Given the description of an element on the screen output the (x, y) to click on. 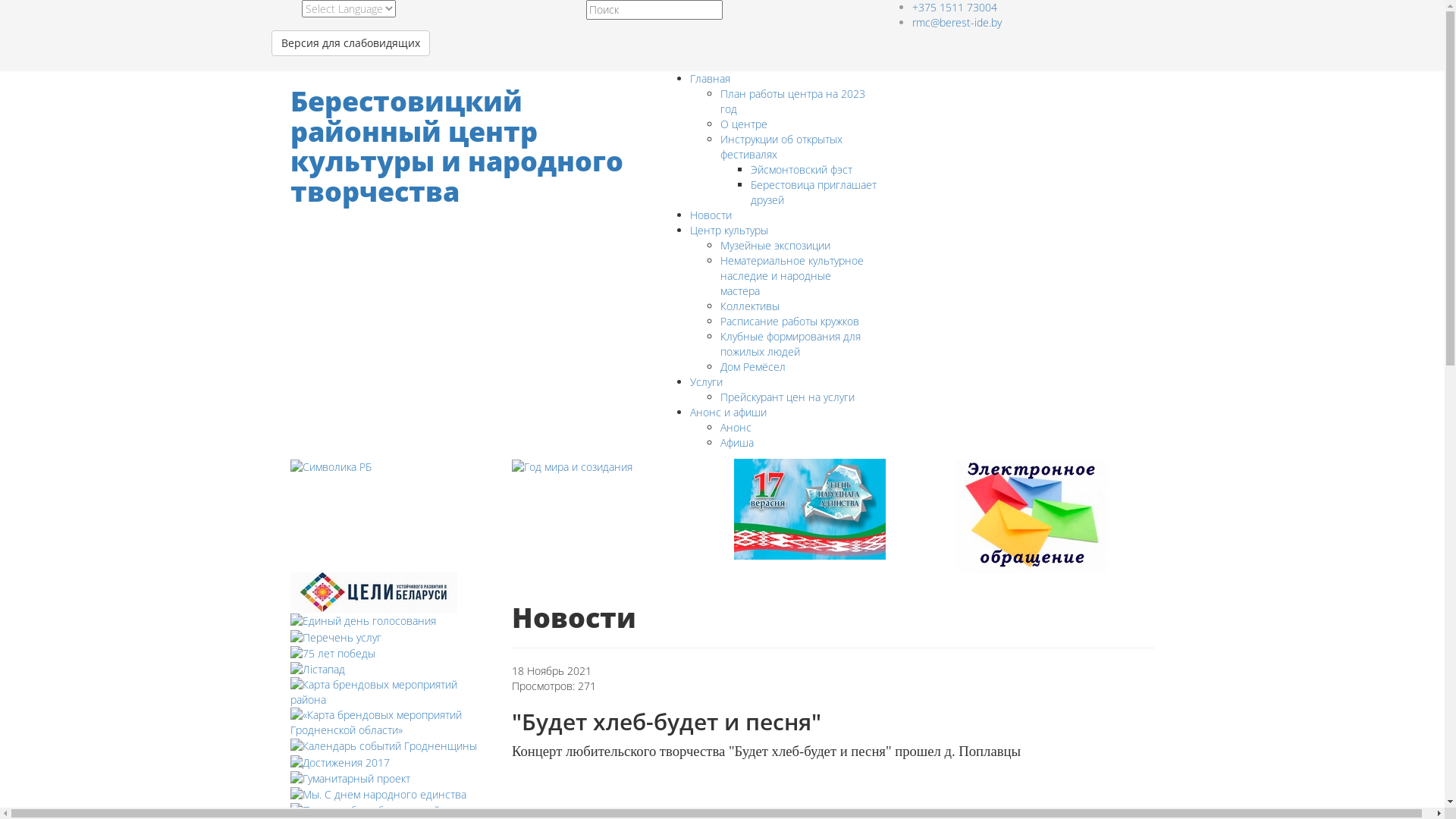
+375 1511 73004 Element type: text (953, 7)
rmc@berest-ide.by Element type: text (956, 22)
